Given the description of an element on the screen output the (x, y) to click on. 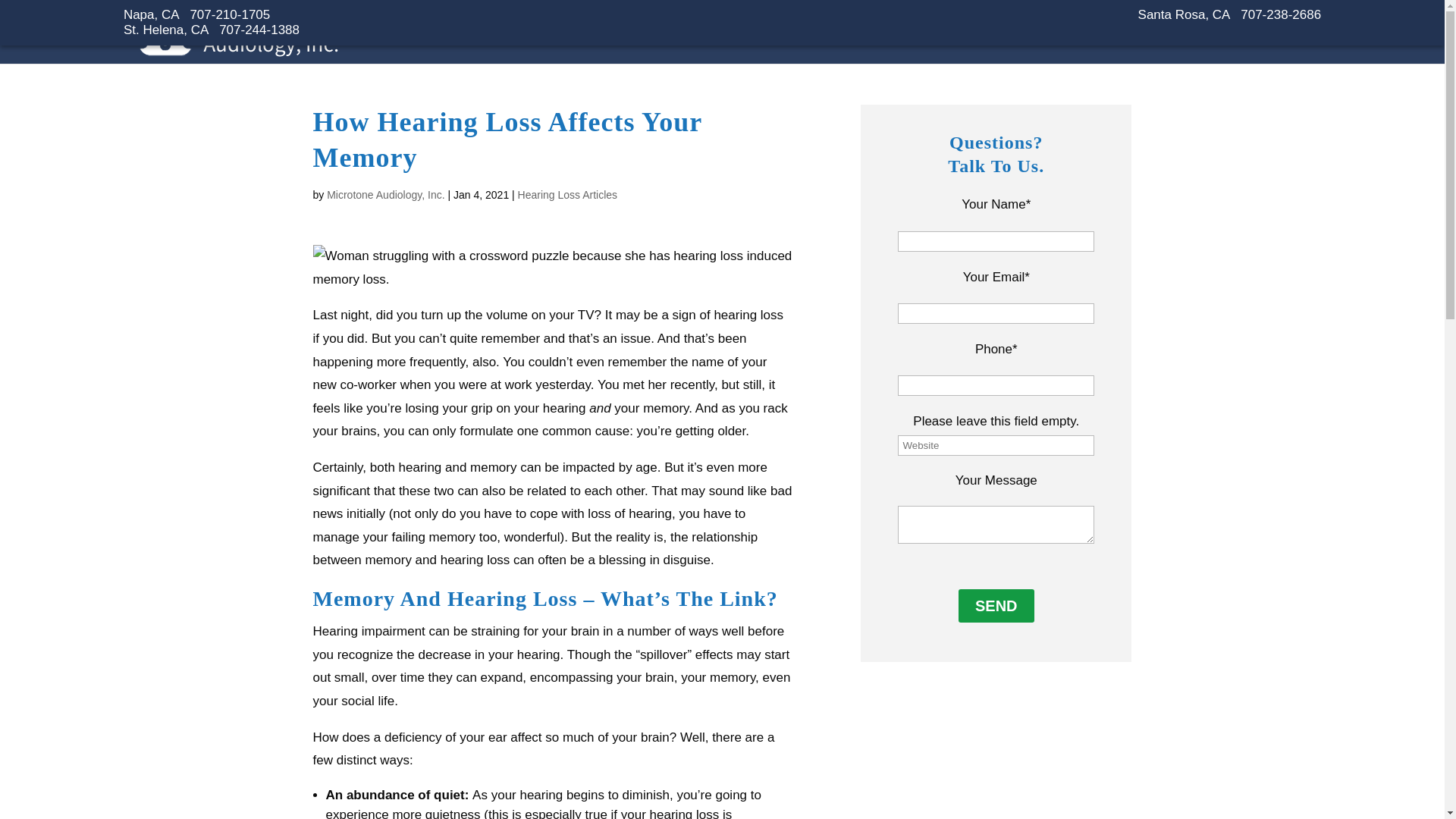
Napa, CA (151, 14)
Santa Rosa, CA (1184, 14)
Microtone Audiology, Inc. (237, 50)
707-244-1388 (259, 29)
Posts by Microtone Audiology, Inc. (385, 194)
Send (995, 605)
Hearing Aids (958, 37)
707-238-2686 (1280, 14)
About Us (1140, 44)
707-210-1705 (229, 14)
